Given the description of an element on the screen output the (x, y) to click on. 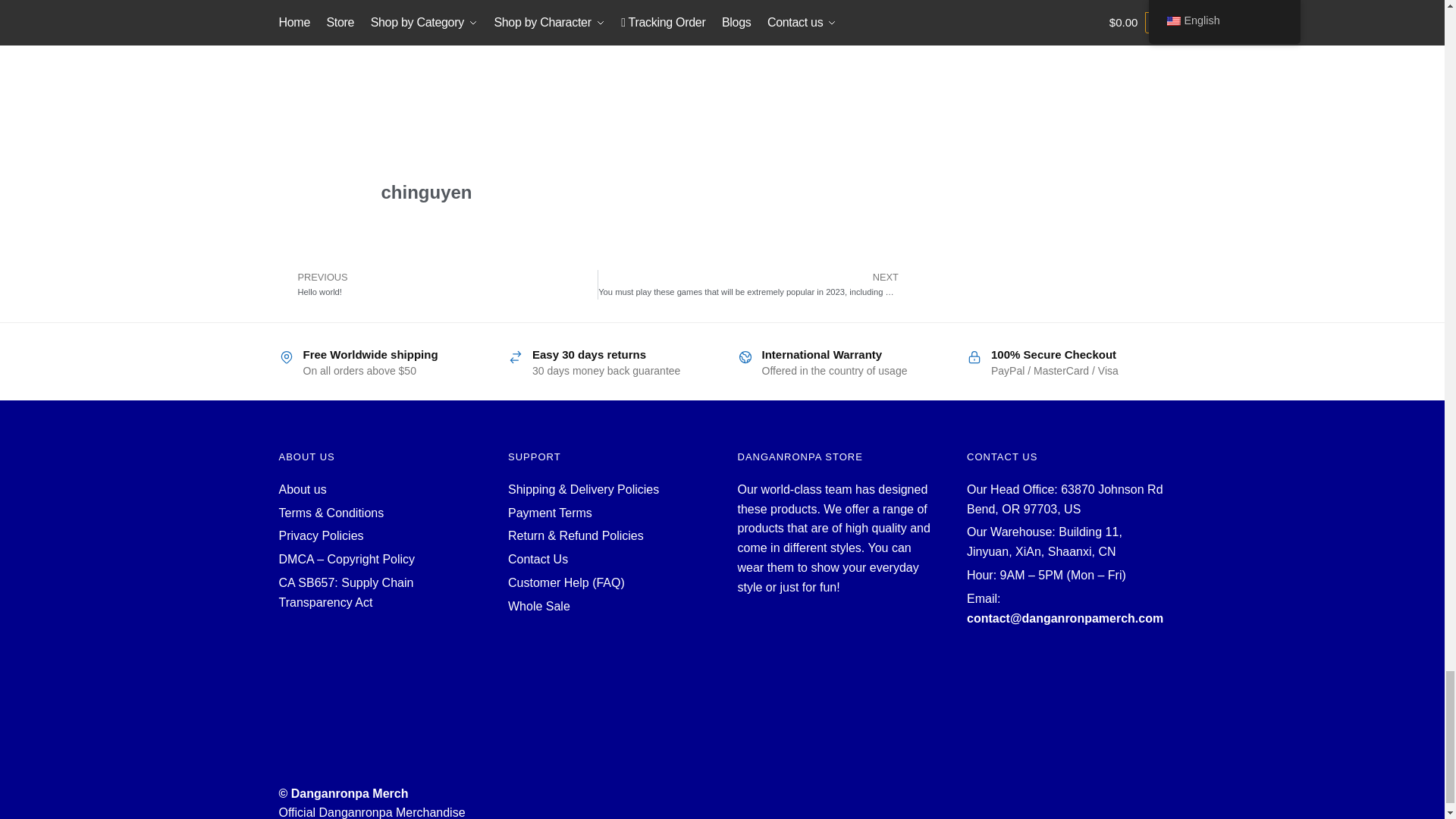
DMCA.com Protection Status (379, 673)
